Given the description of an element on the screen output the (x, y) to click on. 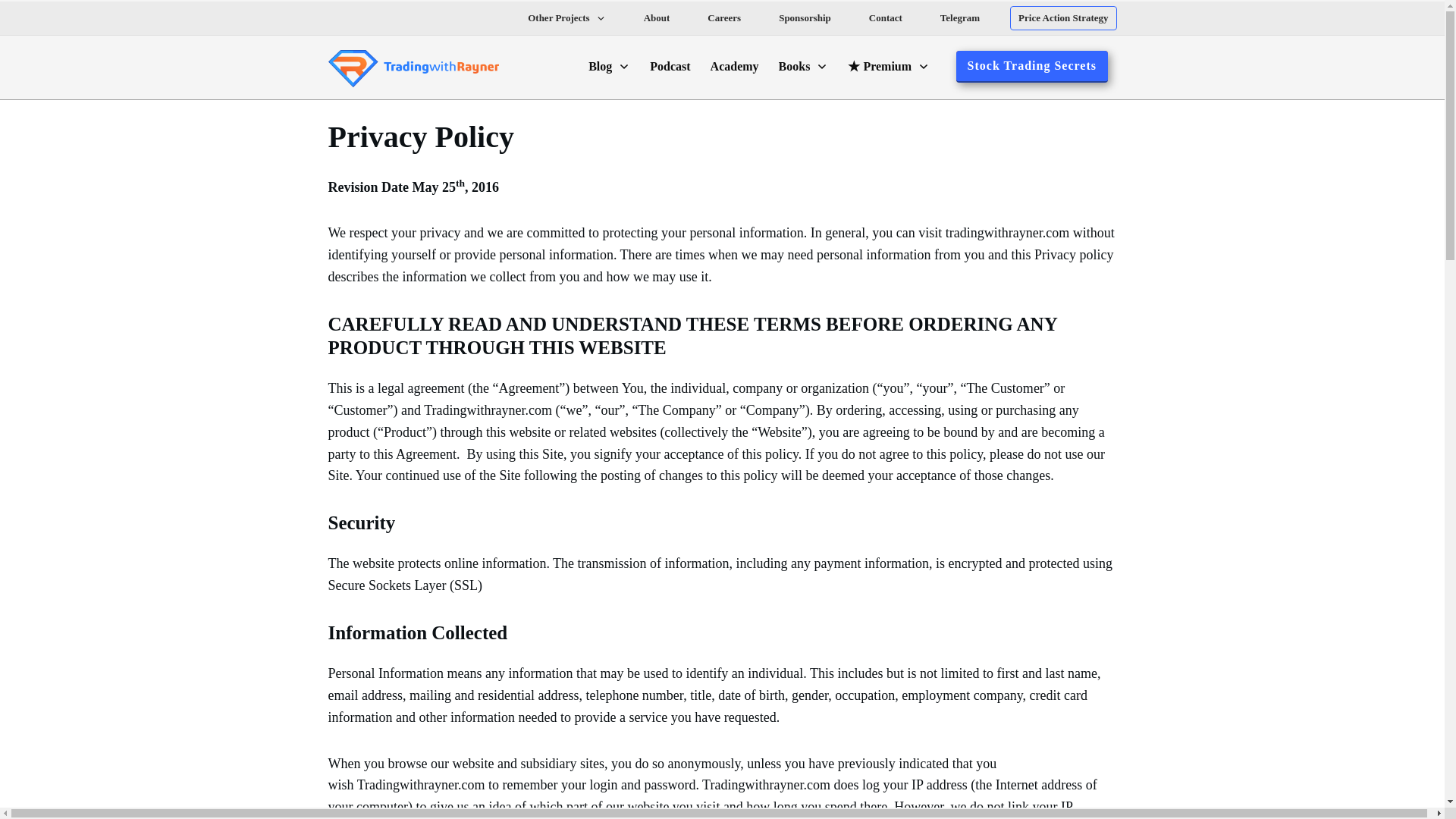
Other Projects (566, 17)
Blog (609, 66)
About (656, 17)
Stock Trading Secrets (1032, 66)
Price Action Strategy (1062, 17)
Telegram (959, 17)
Academy (734, 66)
Podcast (669, 66)
Books (803, 66)
Careers (724, 17)
Sponsorship (804, 17)
Contact (885, 17)
